Given the description of an element on the screen output the (x, y) to click on. 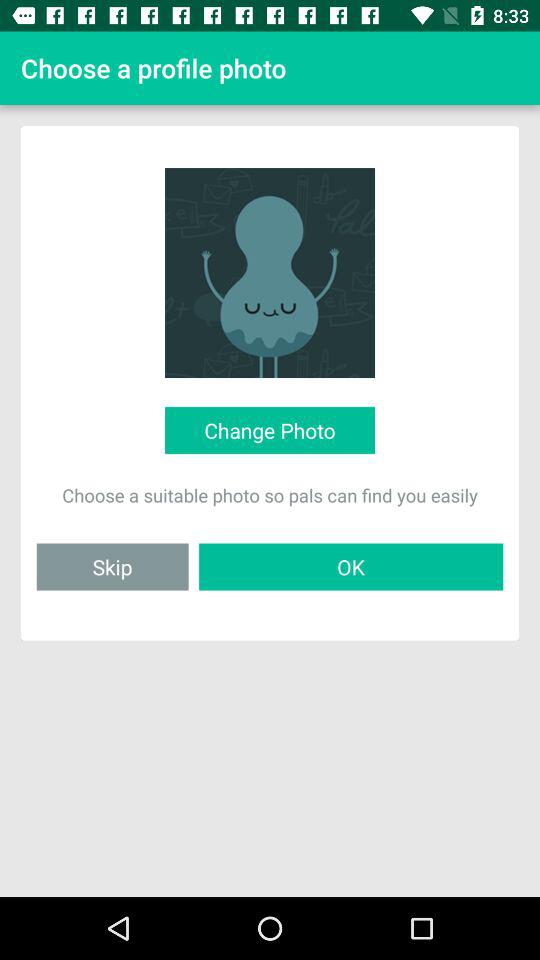
flip to the change photo icon (269, 430)
